Given the description of an element on the screen output the (x, y) to click on. 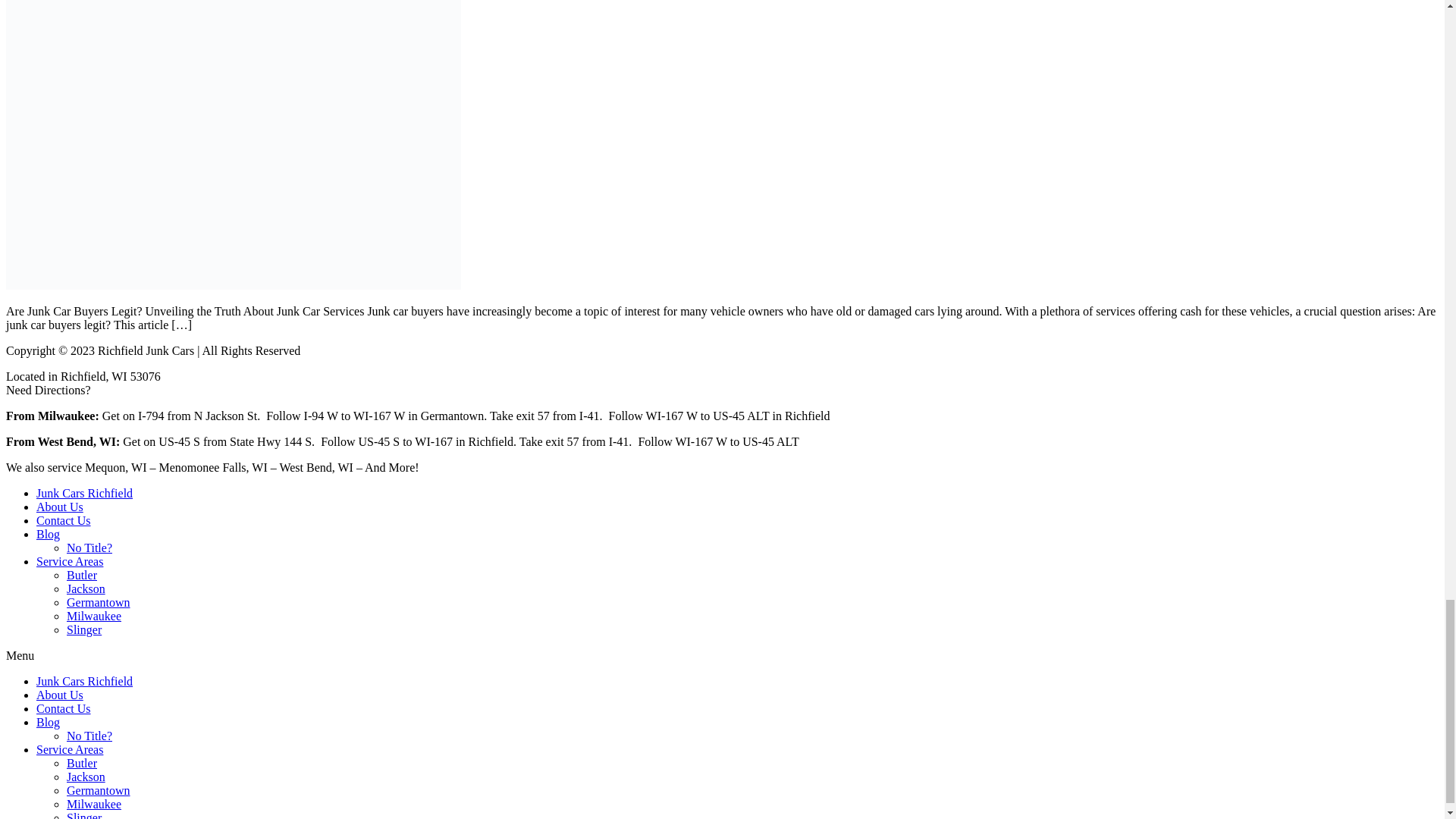
Junk Cars Richfield (84, 492)
Contact Us (63, 520)
Blog (47, 533)
No Title? (89, 547)
Service Areas (69, 561)
About Us (59, 506)
